Given the description of an element on the screen output the (x, y) to click on. 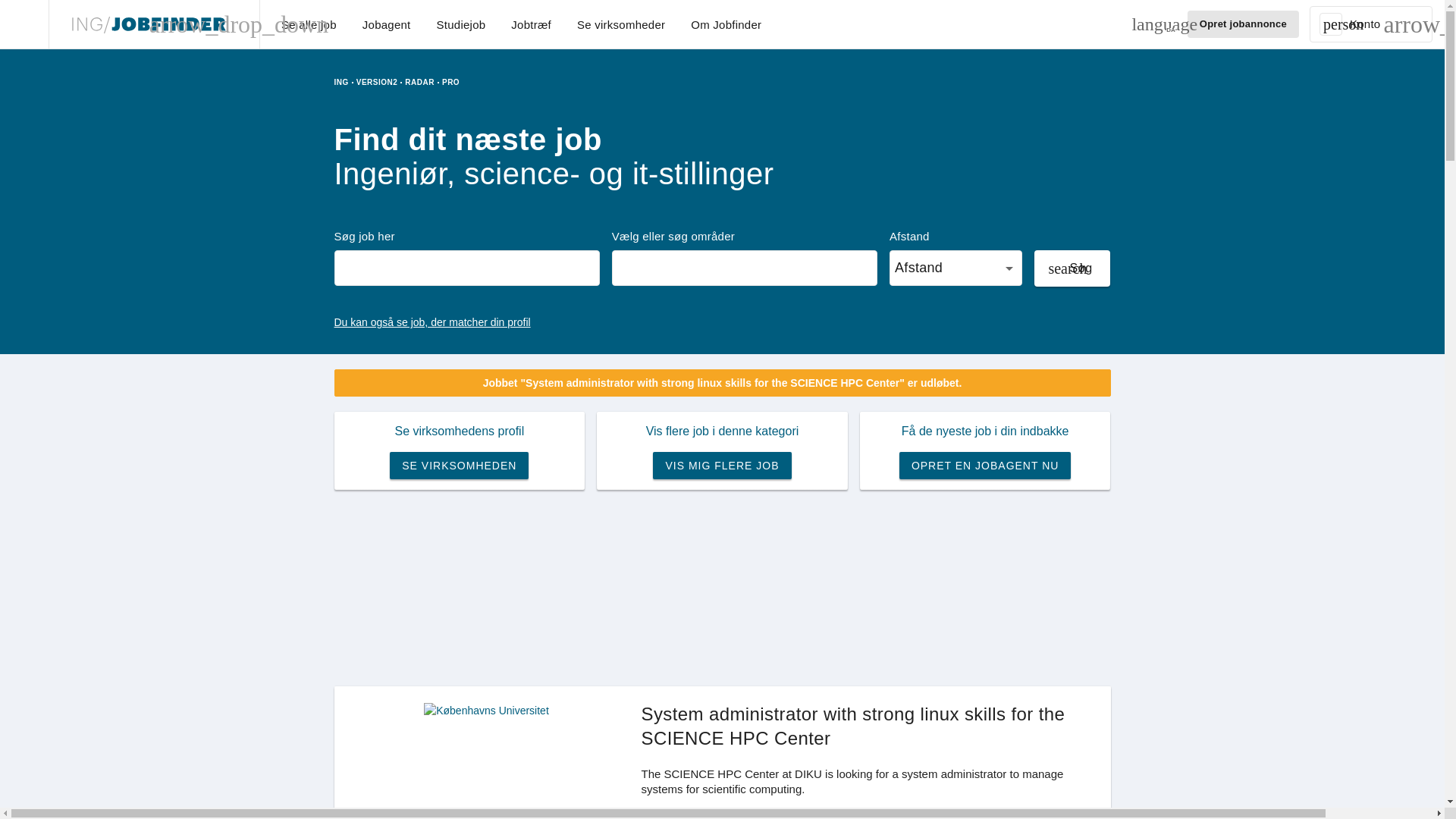
Se virksomheder (620, 23)
Studiejob (461, 23)
Se alle job (309, 23)
ING (340, 81)
Jobfinder (147, 23)
VERSION2 (373, 81)
Se virksomheder (620, 23)
Om Jobfinder (725, 23)
RADAR (415, 81)
Studiejob (461, 23)
